Given the description of an element on the screen output the (x, y) to click on. 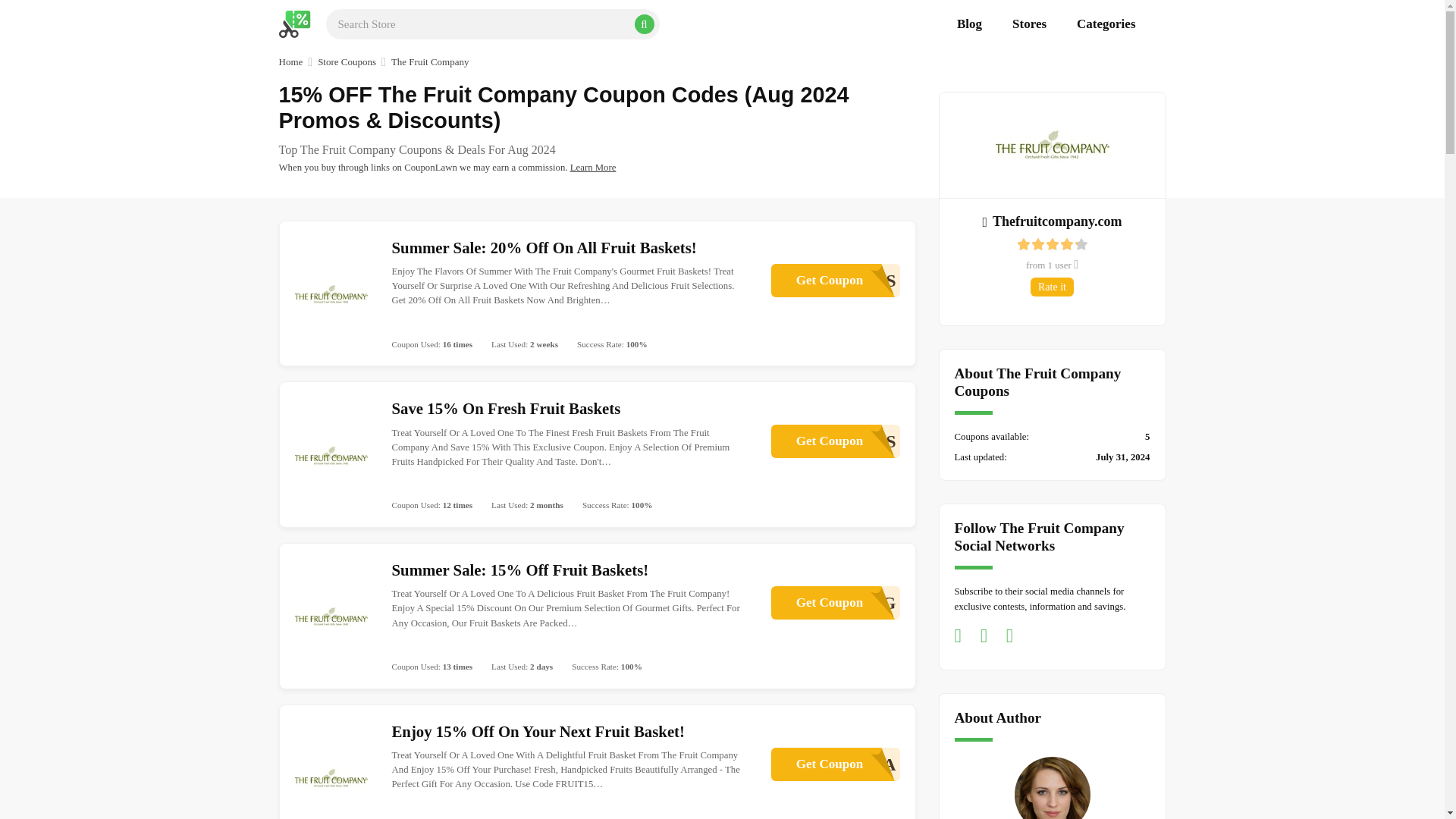
Home (290, 61)
Store Coupons (346, 61)
Thefruitcompany.com (1051, 220)
Rate it (834, 764)
Learn More (1052, 286)
Categories (834, 602)
